Given the description of an element on the screen output the (x, y) to click on. 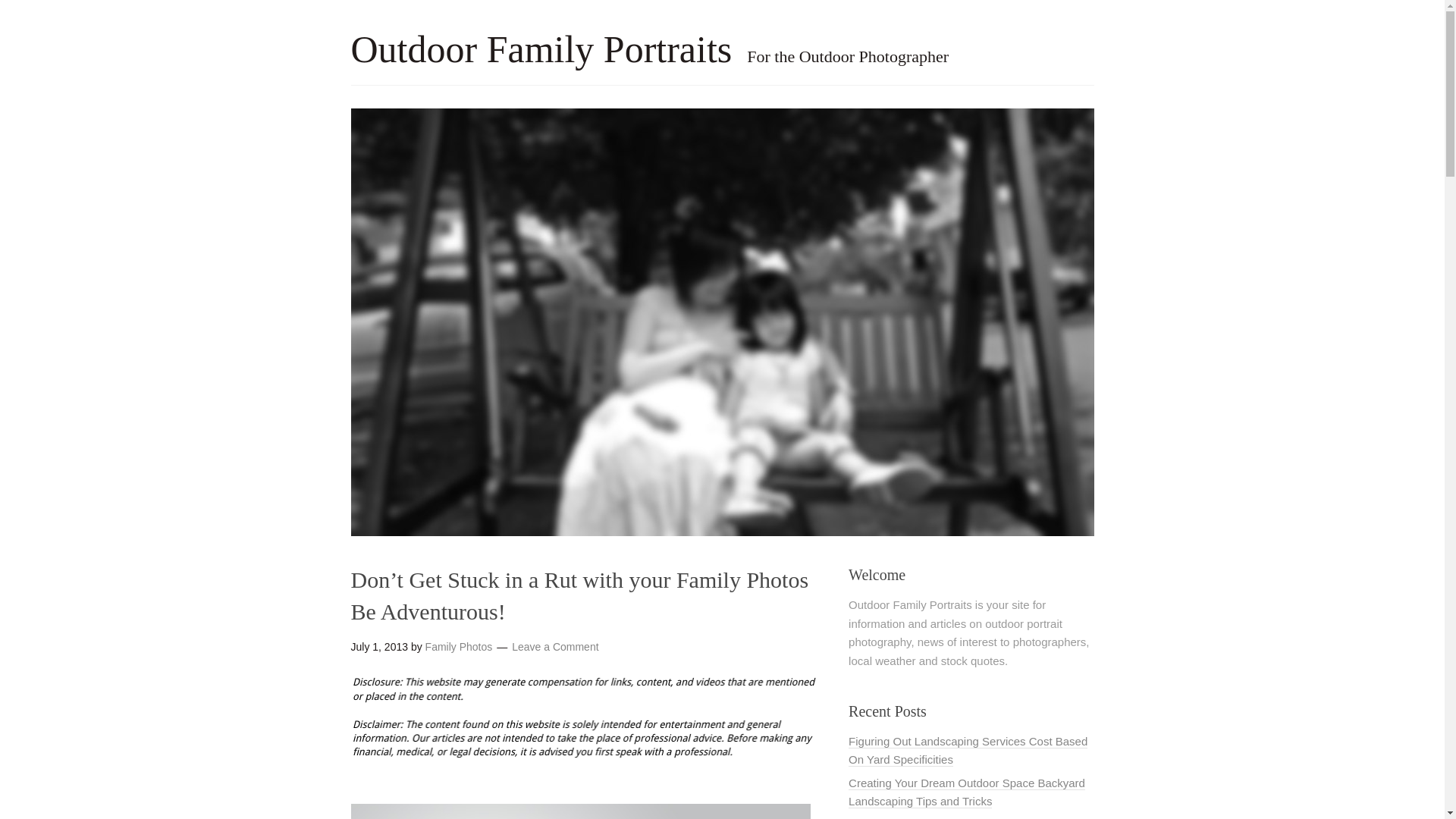
Can I Afford a Surrogate? (912, 818)
Outdoor Family Portraits (541, 48)
Outdoor Family Portraits (541, 48)
Family Photos (459, 646)
Posts by Family Photos (459, 646)
Monday, July 1, 2013, 5:18 pm (378, 646)
Leave a Comment (555, 646)
